Given the description of an element on the screen output the (x, y) to click on. 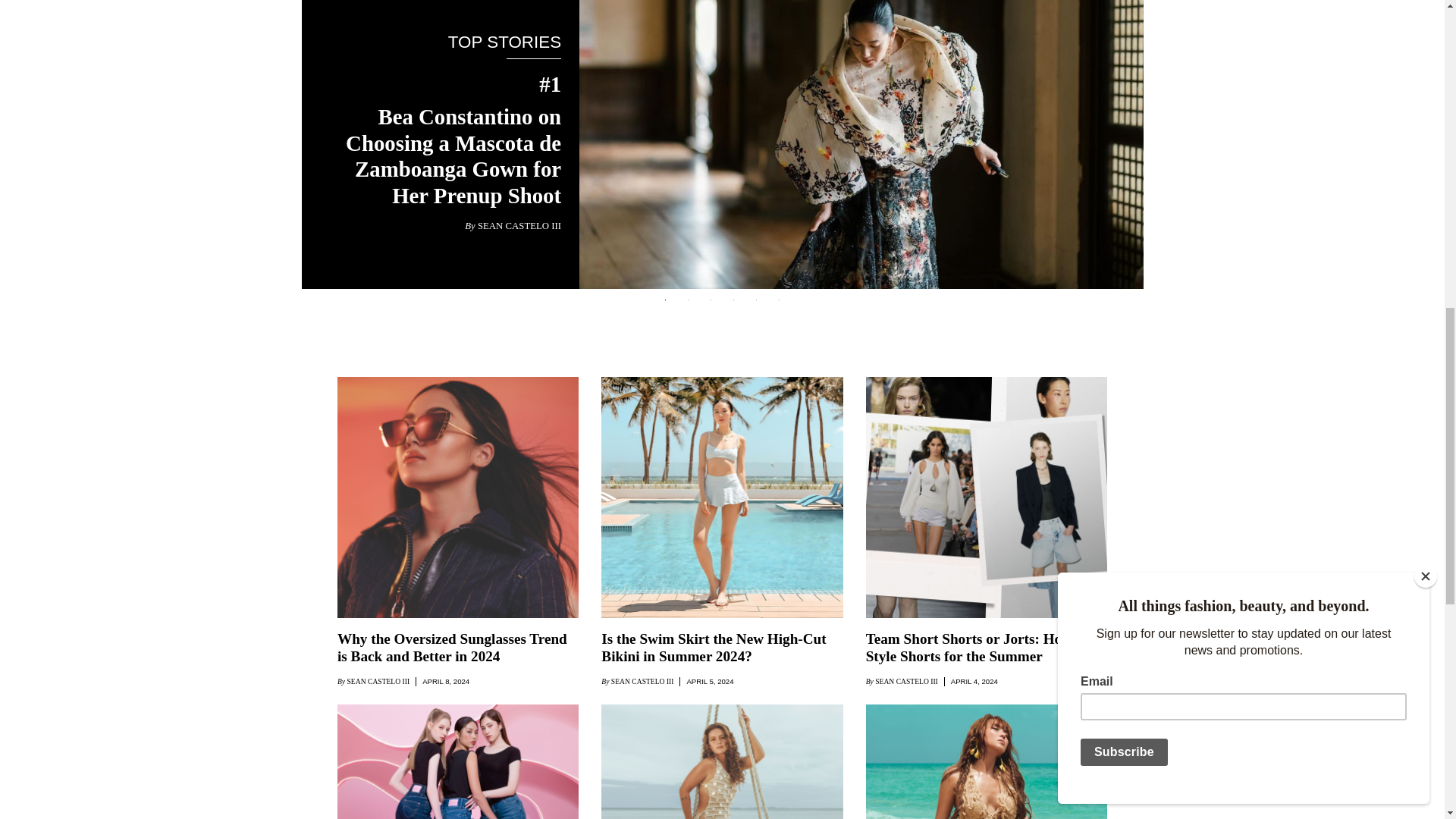
By SEAN CASTELO III (512, 225)
